Given the description of an element on the screen output the (x, y) to click on. 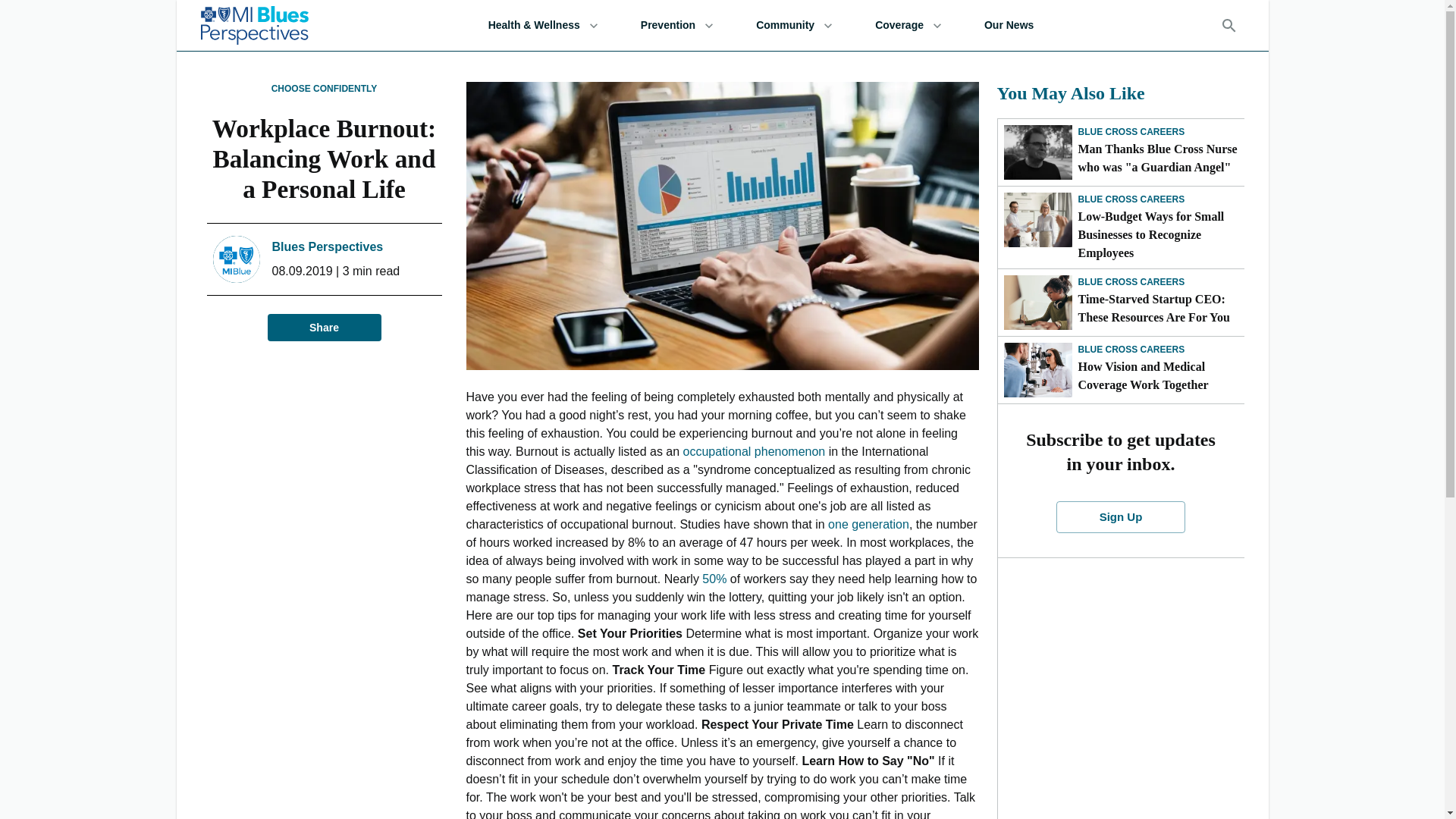
Community (793, 25)
CHOOSE CONFIDENTLY (323, 88)
BLUE CROSS CAREERS (1131, 199)
one generation (868, 523)
Low-Budget Ways for Small Businesses to Recognize Employees (1161, 235)
How Vision and Medical Coverage Work Together (1161, 375)
BLUE CROSS CAREERS (1131, 349)
Blues Perspectives (326, 247)
Man Thanks Blue Cross Nurse who was "a Guardian Angel" (1161, 158)
Coverage (908, 25)
